Given the description of an element on the screen output the (x, y) to click on. 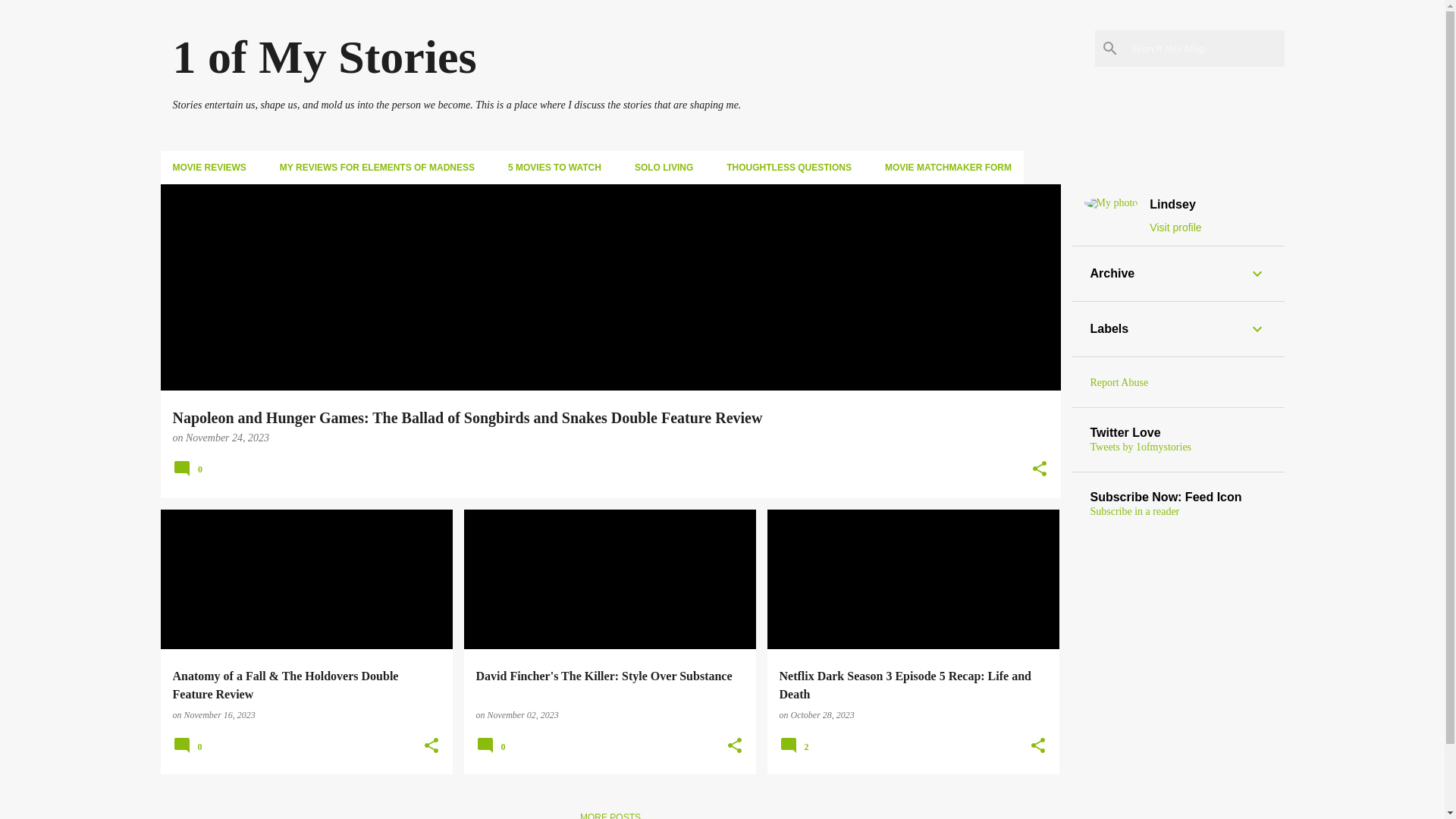
Subscribe in a reader Element type: text (1134, 511)
October 28, 2023 Element type: text (821, 714)
0 Element type: text (189, 474)
0 Element type: text (493, 751)
Visit profile Element type: text (1175, 227)
November 16, 2023 Element type: text (218, 714)
SOLO LIVING Element type: text (663, 167)
Tweets by 1ofmystories Element type: text (1141, 446)
November 24, 2023 Element type: text (227, 437)
November 02, 2023 Element type: text (522, 714)
Report Abuse Element type: text (1119, 382)
THOUGHTLESS QUESTIONS Element type: text (788, 167)
MOVIE REVIEWS Element type: text (211, 167)
MOVIE MATCHMAKER FORM Element type: text (945, 167)
Lindsey Element type: text (1175, 204)
MY REVIEWS FOR ELEMENTS OF MADNESS Element type: text (377, 167)
2 Element type: text (796, 751)
5 MOVIES TO WATCH Element type: text (554, 167)
0 Element type: text (189, 751)
